Given the description of an element on the screen output the (x, y) to click on. 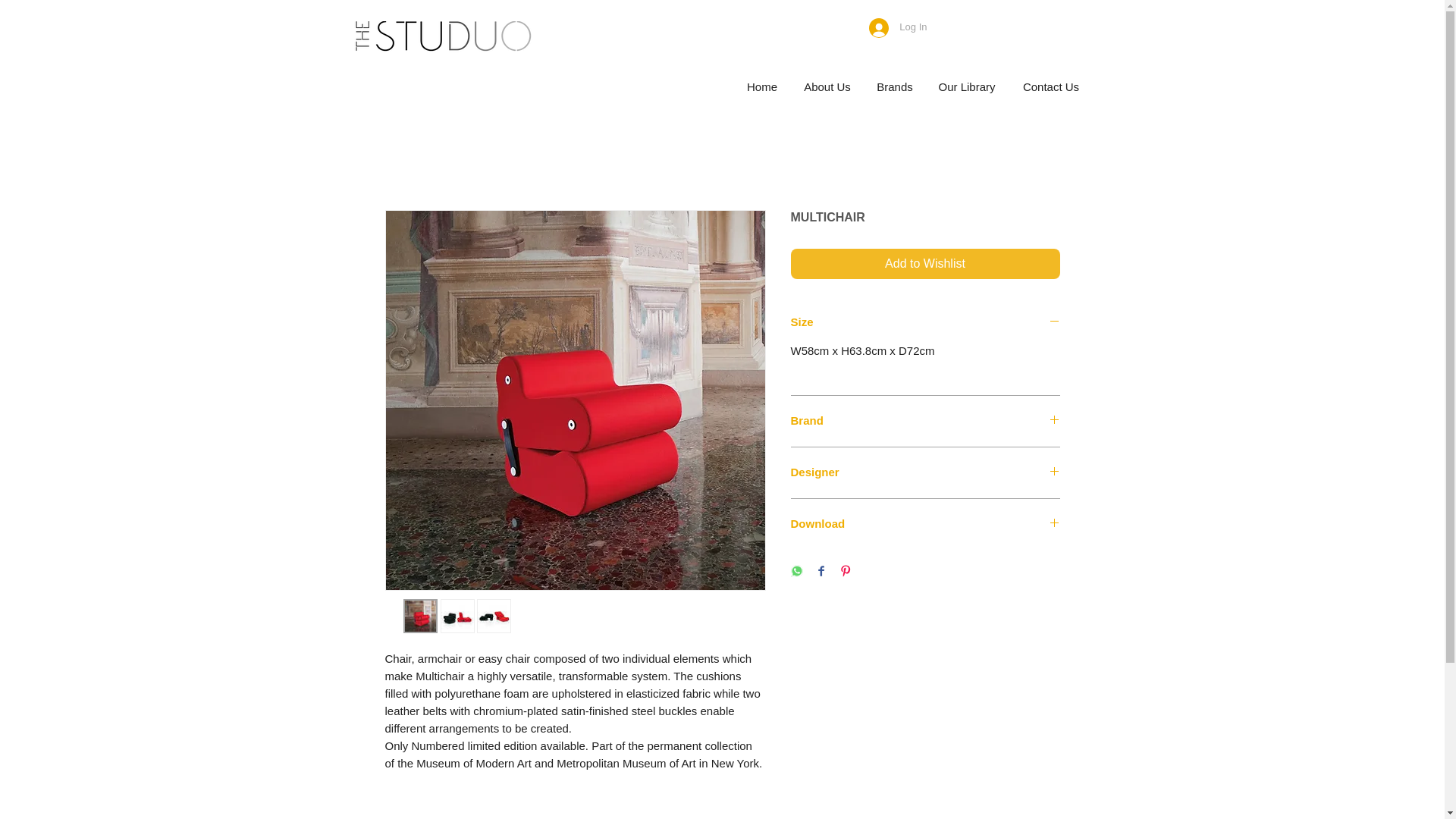
Designer (924, 472)
Add to Wishlist (924, 263)
Log In (898, 27)
logo (440, 36)
Size (924, 322)
Brands (893, 86)
About Us (826, 86)
Brand (924, 421)
Home (761, 86)
Contact Us (1050, 86)
Our Library (965, 86)
Download (924, 523)
